Given the description of an element on the screen output the (x, y) to click on. 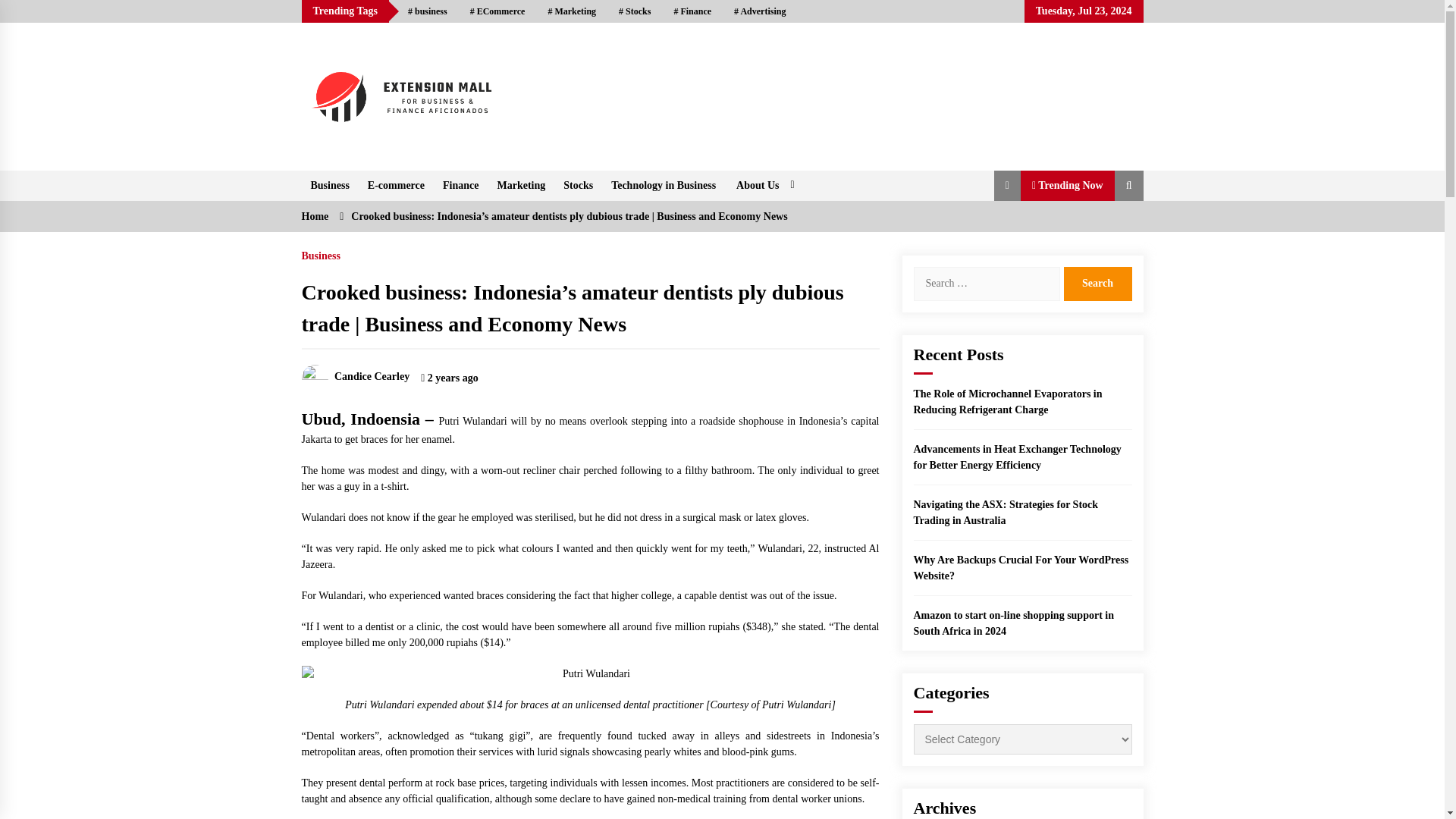
Finance (460, 185)
Stocks (578, 185)
ECommerce (497, 11)
Search (1096, 283)
Technology in Business (663, 185)
E-commerce (395, 185)
Marketing (520, 185)
Marketing (571, 11)
Search (1096, 283)
About Us (763, 185)
Advertising (759, 11)
Finance (692, 11)
Business (329, 185)
business (427, 11)
Stocks (634, 11)
